Given the description of an element on the screen output the (x, y) to click on. 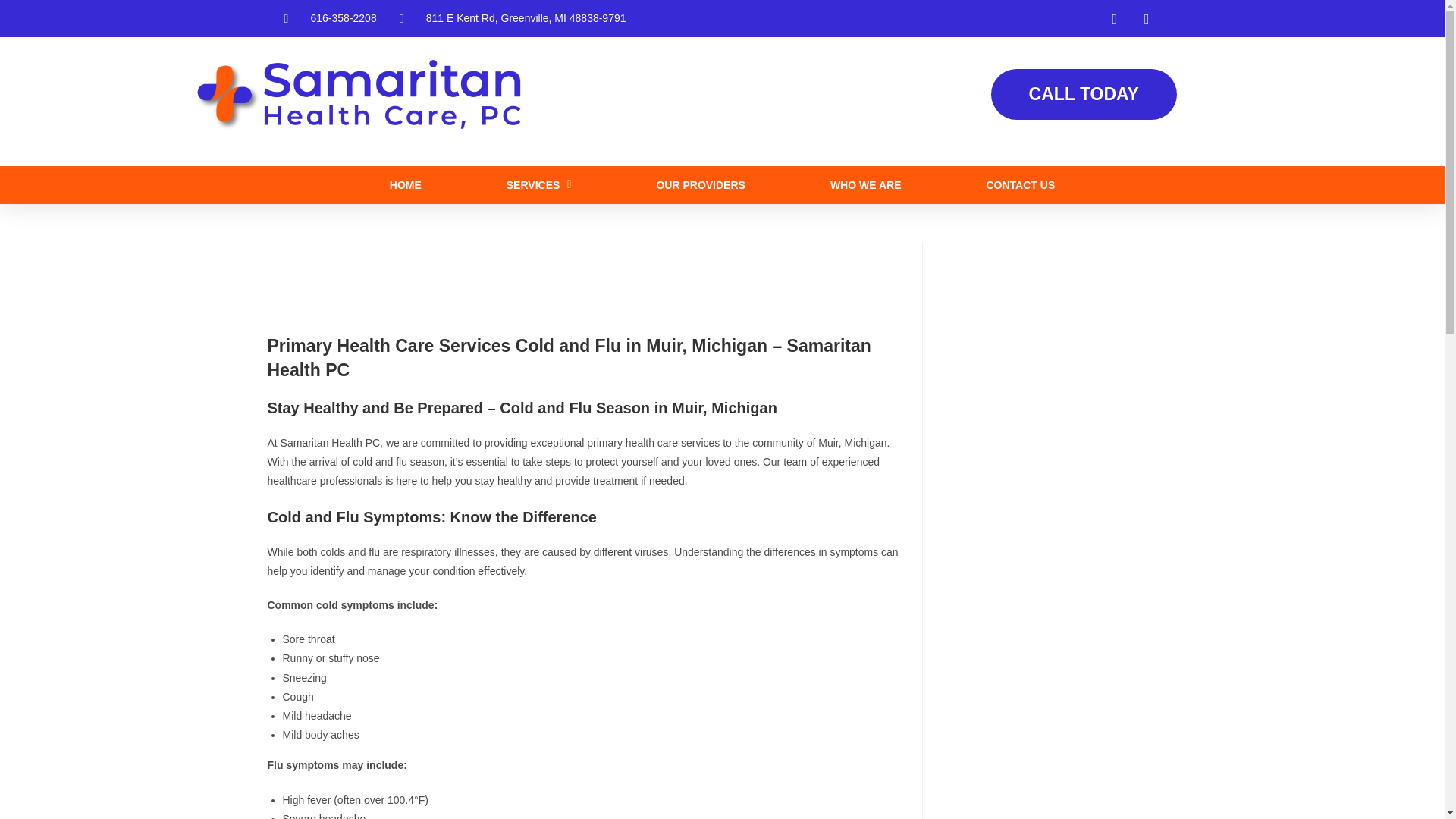
SERVICES (539, 184)
CALL TODAY (1083, 93)
OUR PROVIDERS (700, 184)
HOME (406, 184)
WHO WE ARE (865, 184)
CONTACT US (1020, 184)
